Given the description of an element on the screen output the (x, y) to click on. 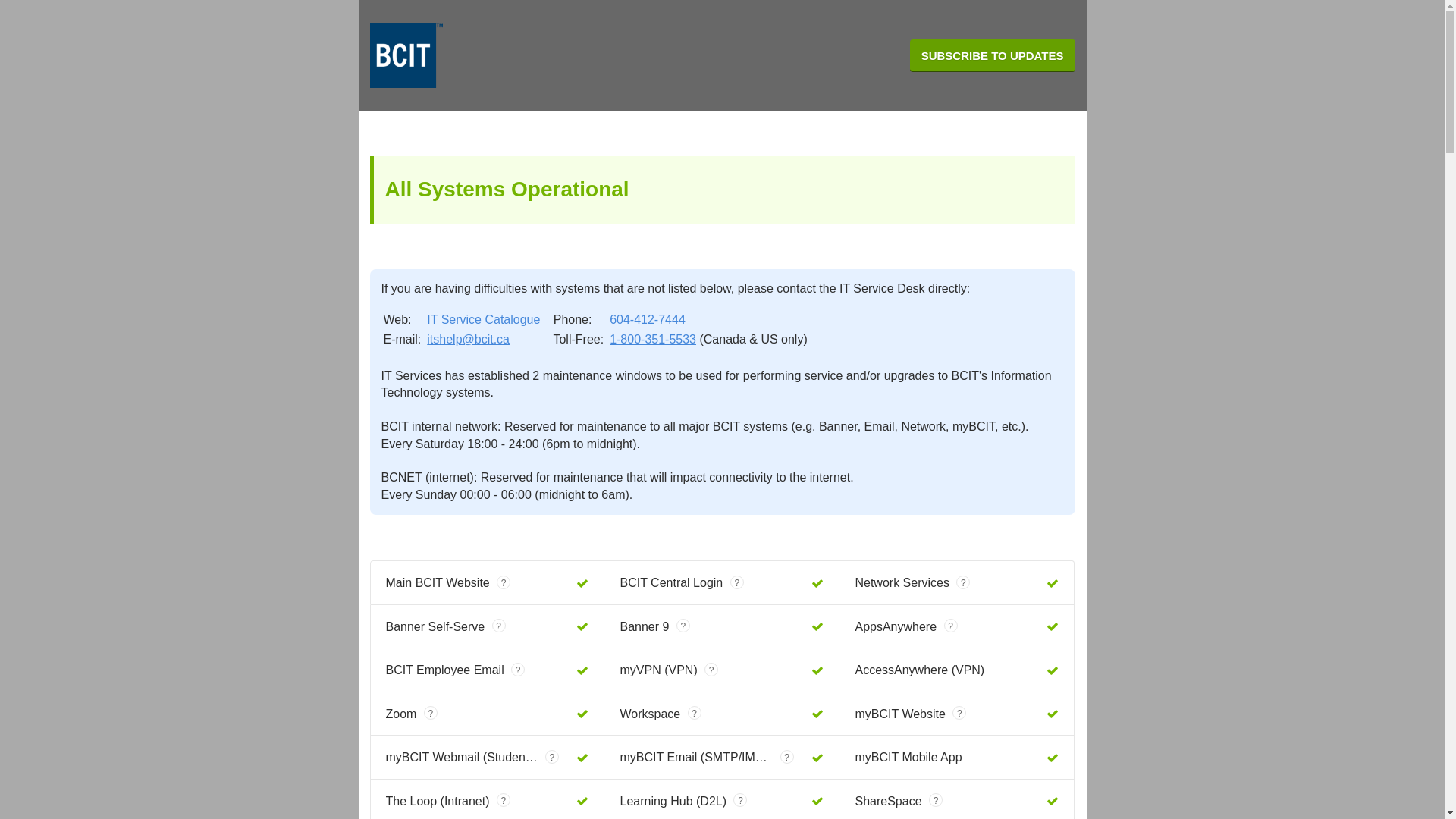
itshelp@bcit.ca Element type: text (467, 338)
1-800-351-5533 Element type: text (652, 338)
604-412-7444 Element type: text (647, 319)
IT Service Catalogue Element type: text (482, 319)
